Given the description of an element on the screen output the (x, y) to click on. 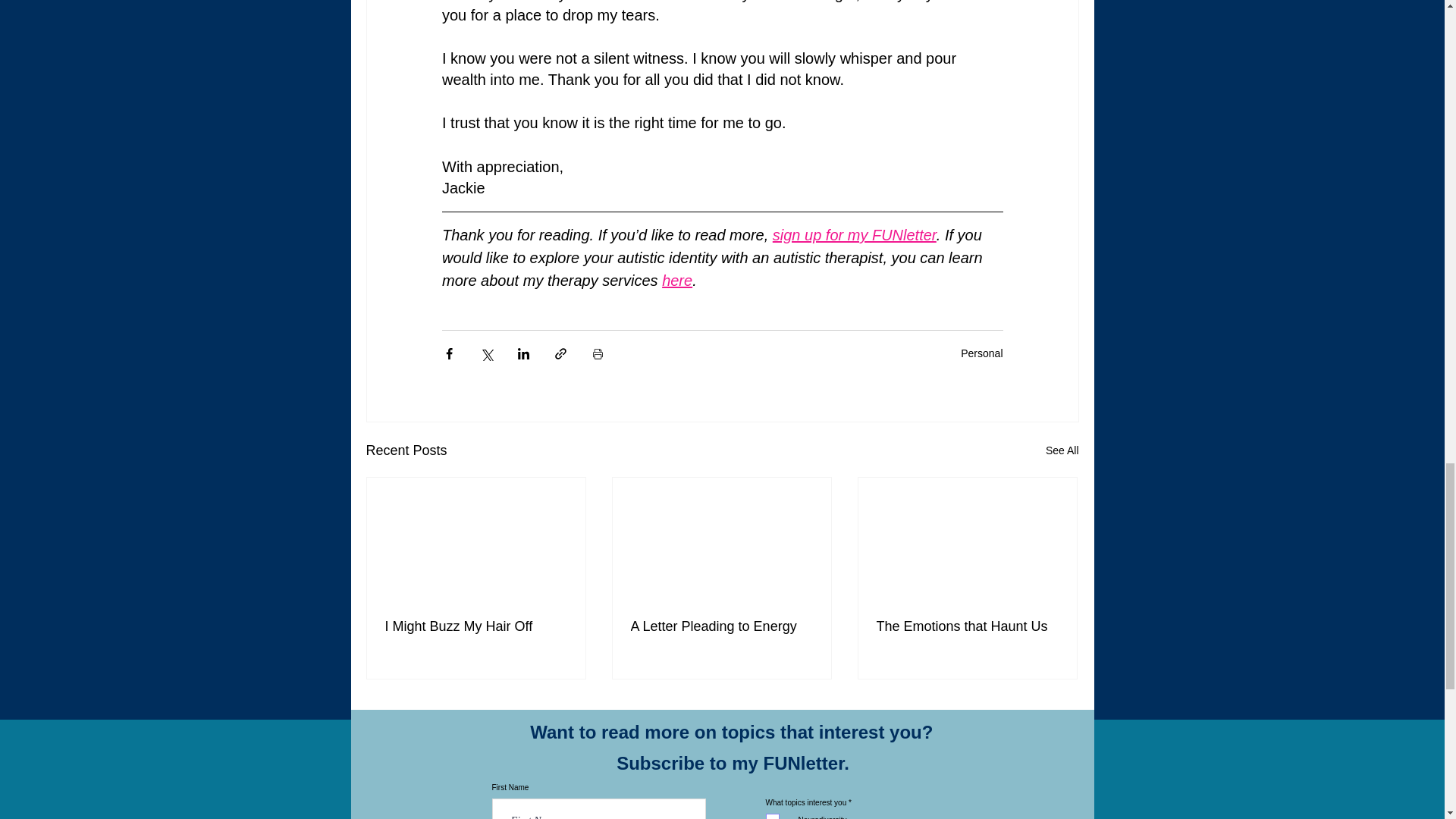
A Letter Pleading to Energy (721, 626)
here (677, 280)
See All (1061, 450)
The Emotions that Haunt Us (967, 626)
I Might Buzz My Hair Off (476, 626)
sign up for my FUNletter (853, 234)
Personal (981, 353)
